Given the description of an element on the screen output the (x, y) to click on. 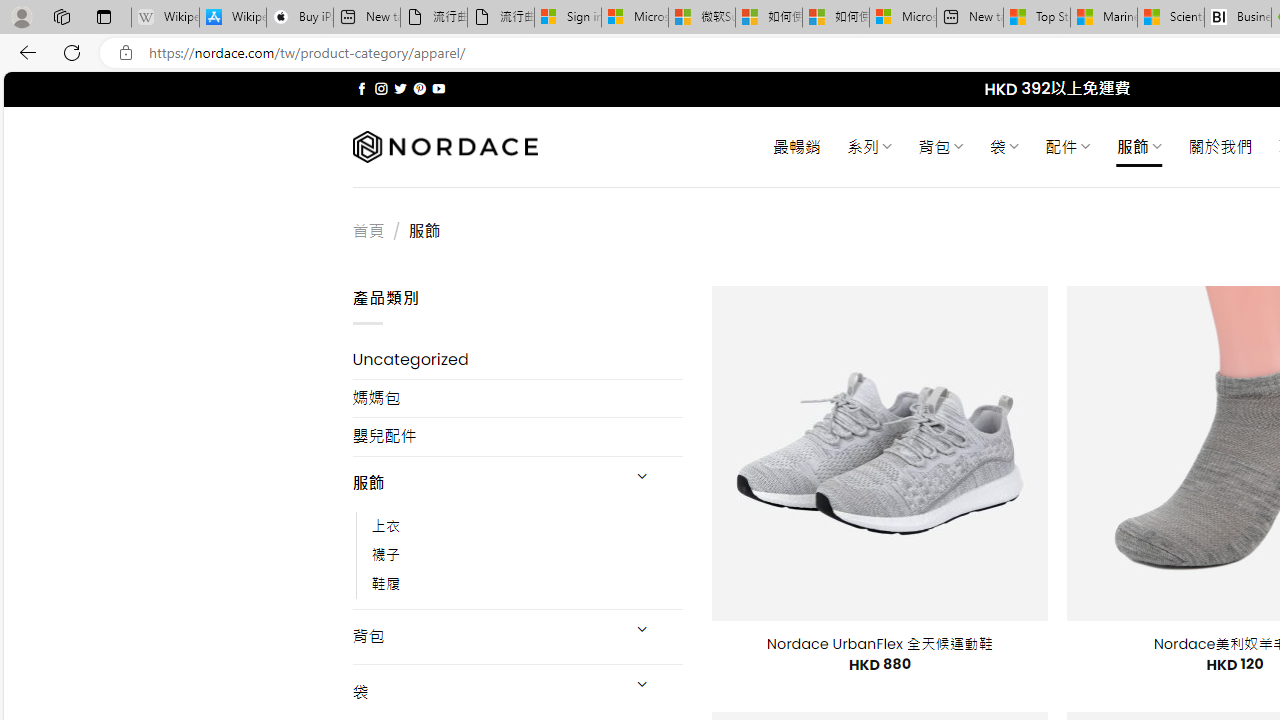
Buy iPad - Apple (299, 17)
Follow on Instagram (381, 88)
Uncategorized (517, 359)
Microsoft account | Account Checkup (902, 17)
Uncategorized (517, 359)
